Given the description of an element on the screen output the (x, y) to click on. 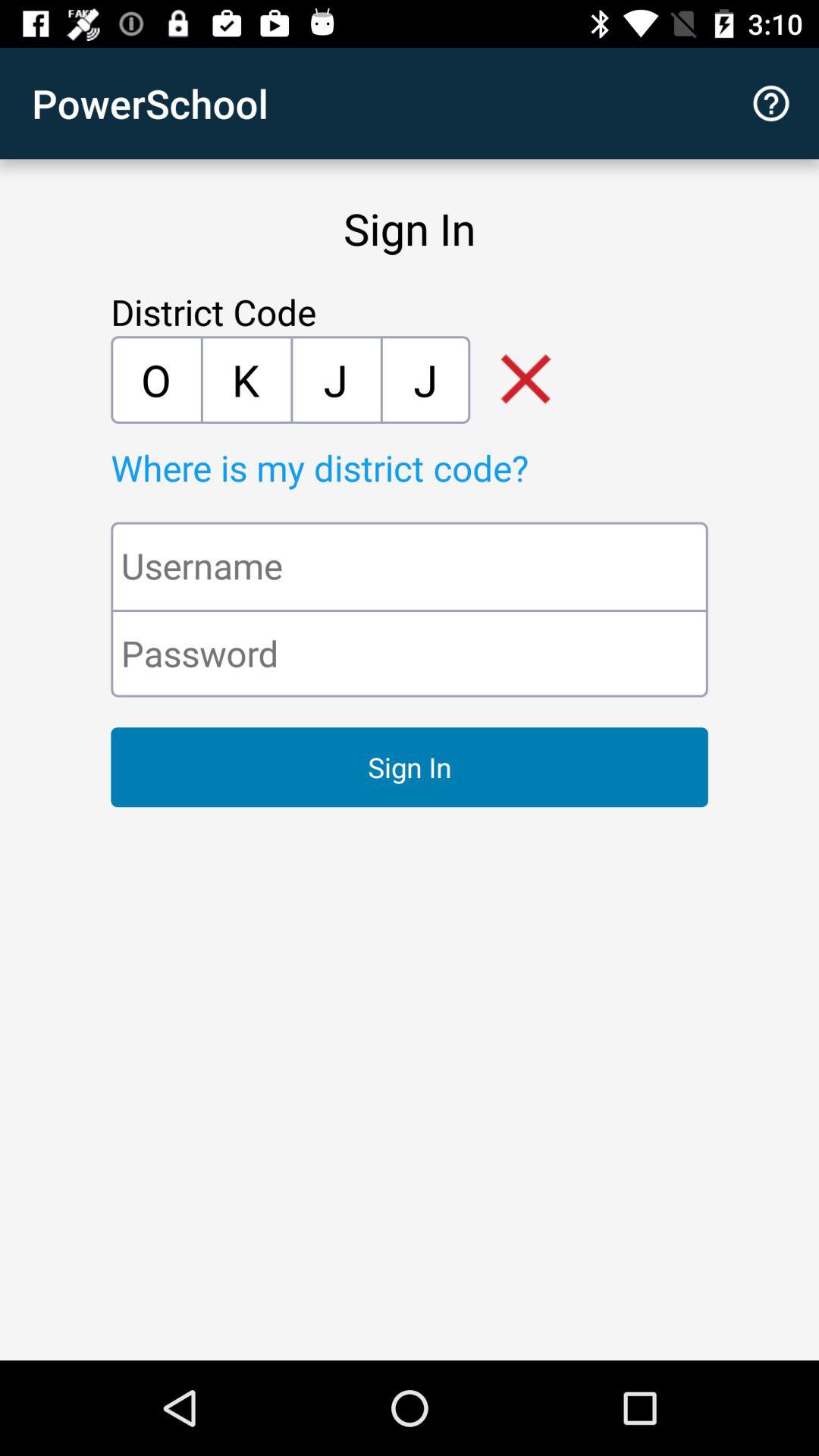
press k item (245, 379)
